Given the description of an element on the screen output the (x, y) to click on. 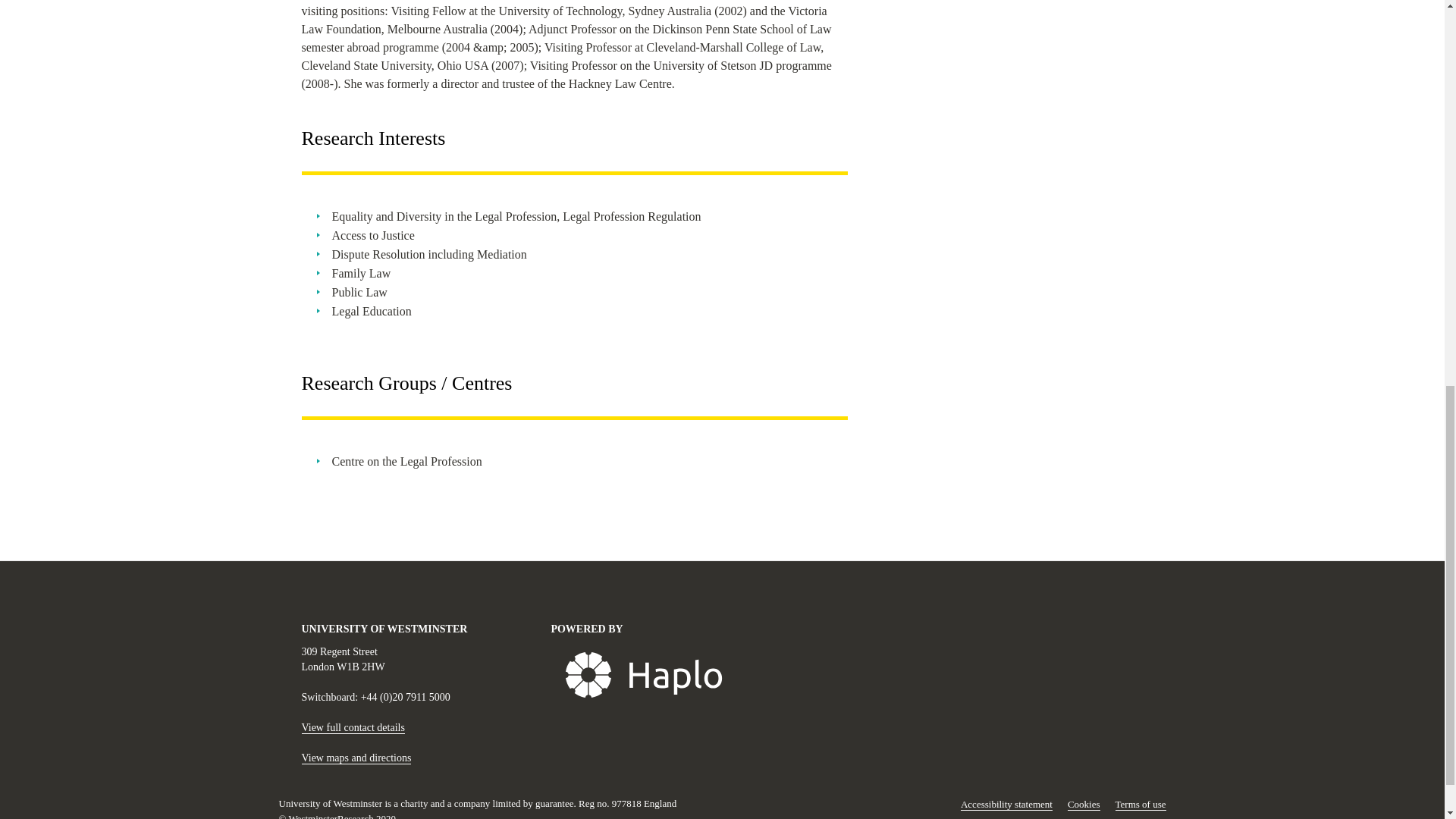
Terms of use (1140, 804)
View maps and directions (356, 758)
Accessibility statement (1006, 804)
View full contact details (352, 727)
Cookies (1083, 804)
